Given the description of an element on the screen output the (x, y) to click on. 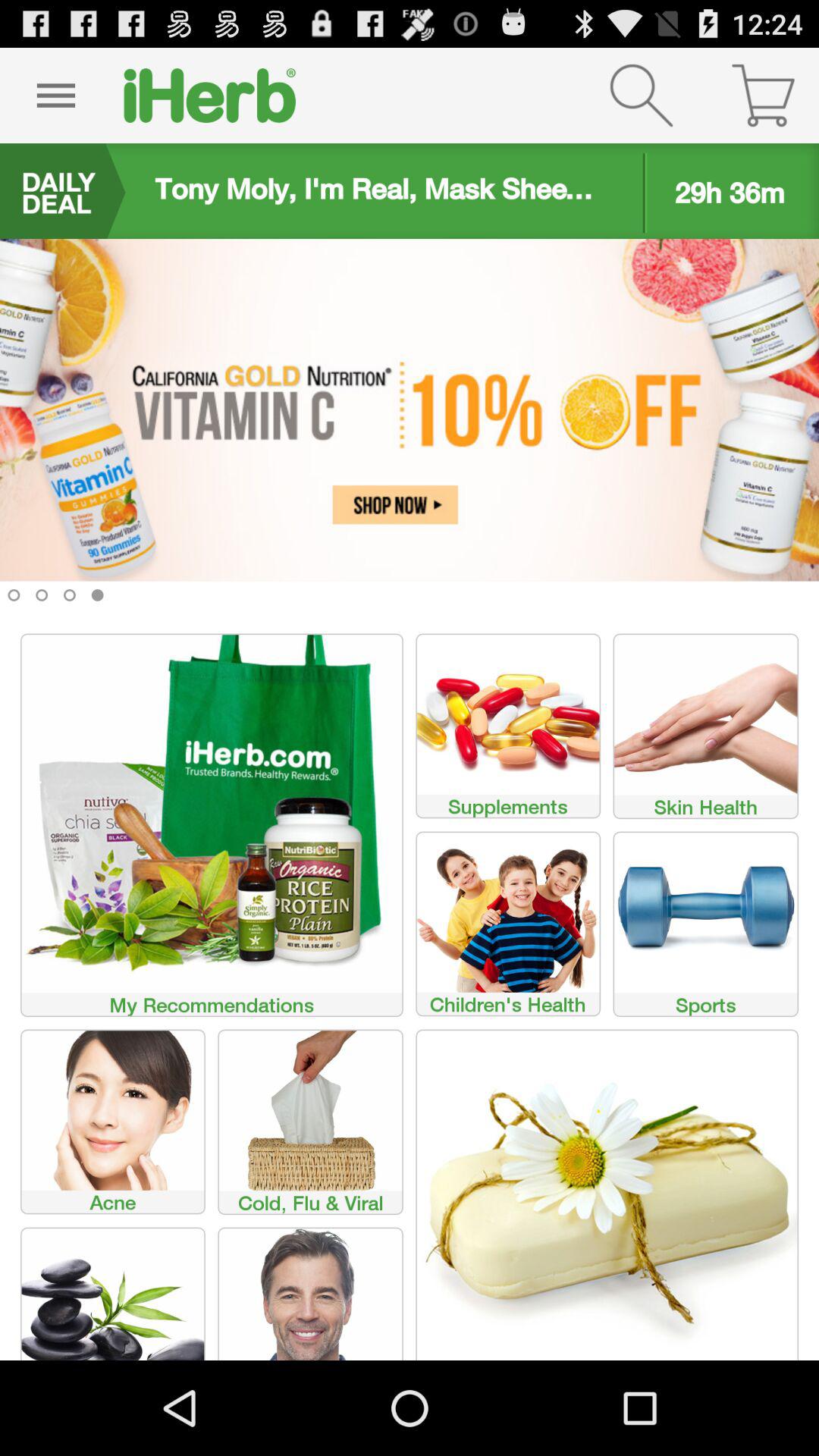
click advertisement to shop (409, 431)
